Given the description of an element on the screen output the (x, y) to click on. 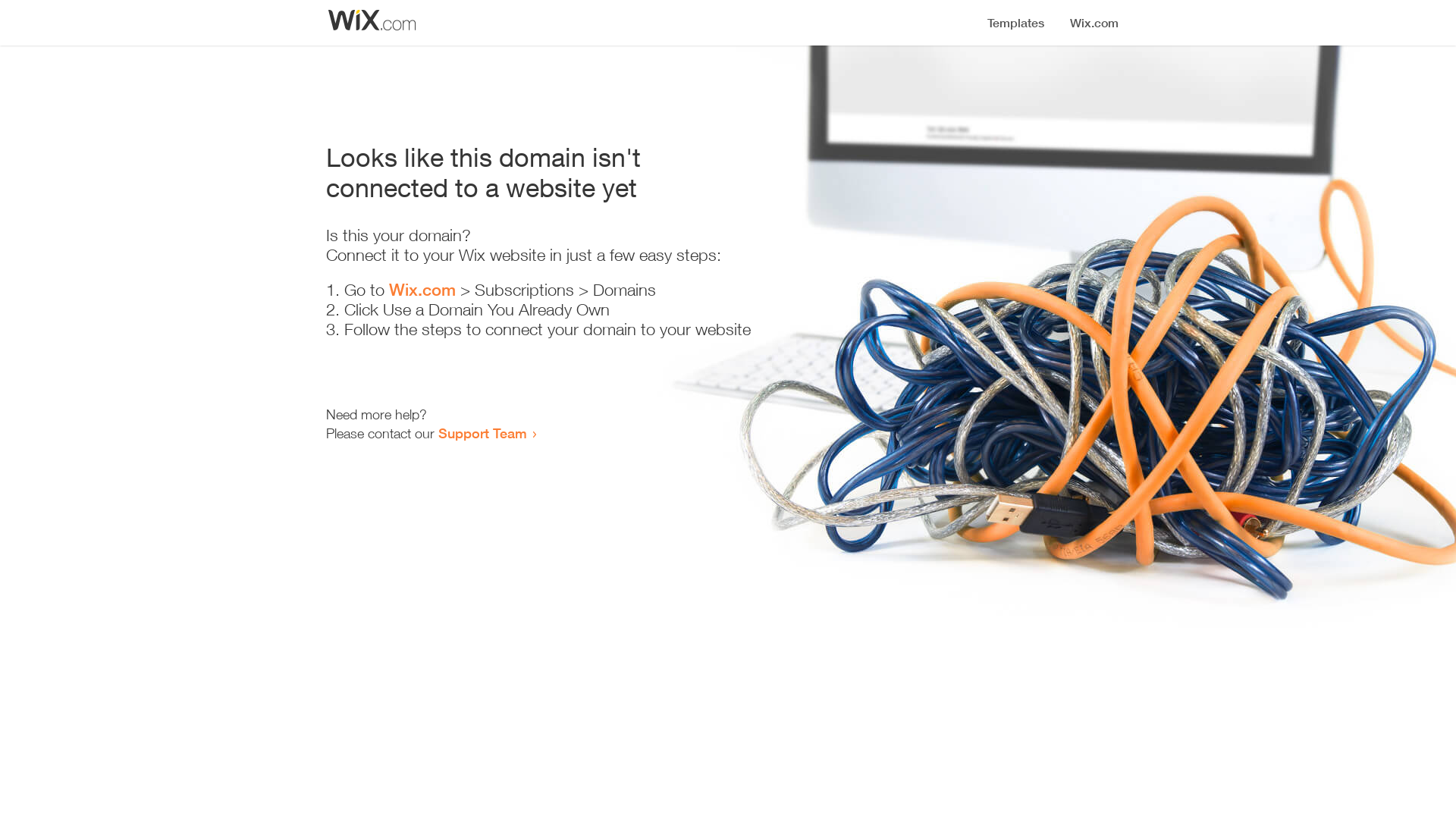
Wix.com Element type: text (422, 289)
Support Team Element type: text (482, 432)
